Given the description of an element on the screen output the (x, y) to click on. 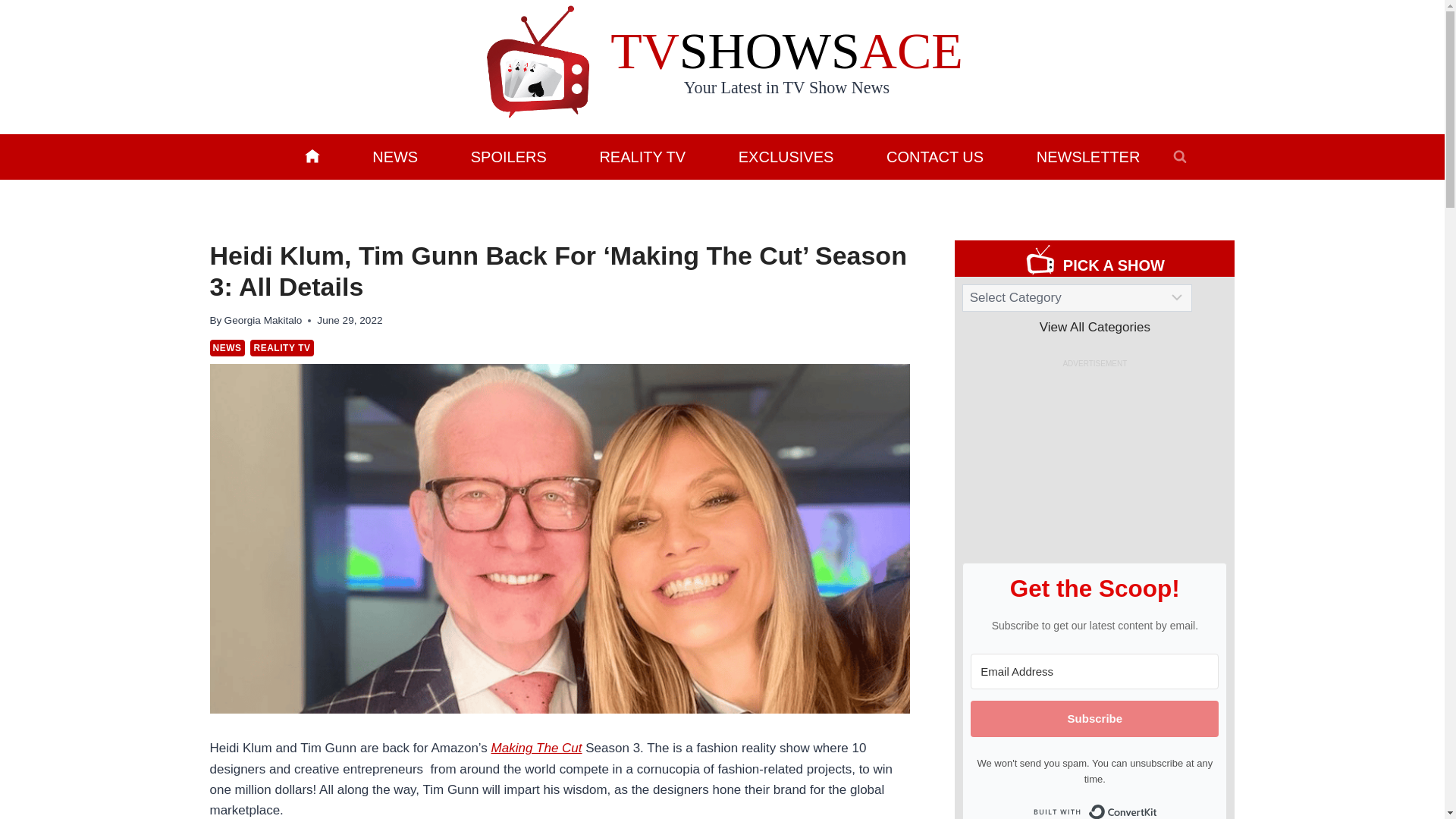
REALITY TV (281, 347)
Georgia Makitalo (263, 319)
Making The Cut (537, 748)
SPOILERS (508, 156)
CONTACT US (935, 156)
EXCLUSIVES (785, 156)
NEWS (226, 347)
NEWS (395, 156)
NEWSLETTER (1088, 156)
REALITY TV (642, 156)
